Given the description of an element on the screen output the (x, y) to click on. 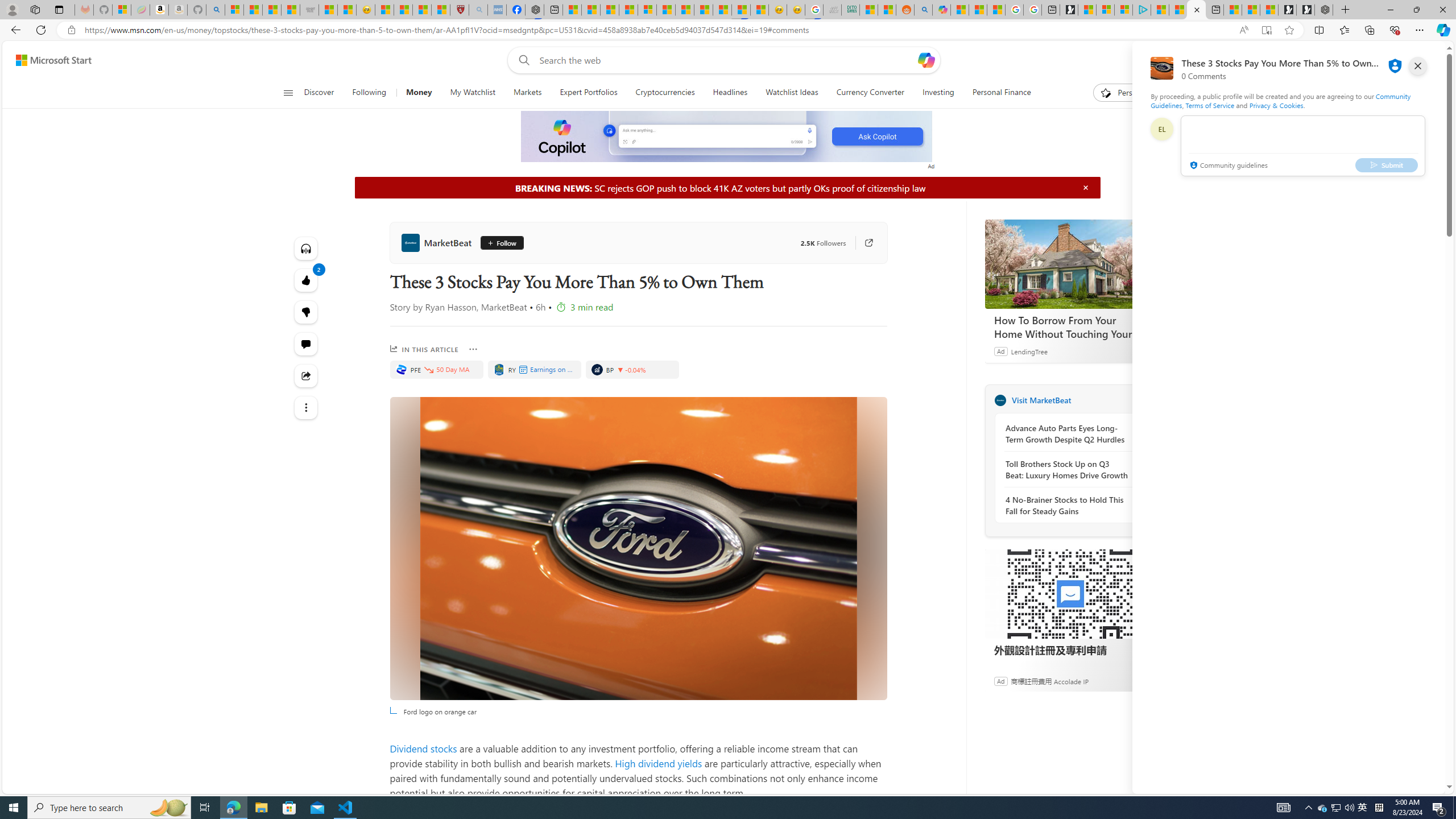
Watchlist Ideas (791, 92)
BP, BP P.L.C.. Price is 33.51. Decreased by -0.04% (631, 369)
Go to publisher's site (863, 242)
Community guidelines (1228, 165)
Money (418, 92)
